Given the description of an element on the screen output the (x, y) to click on. 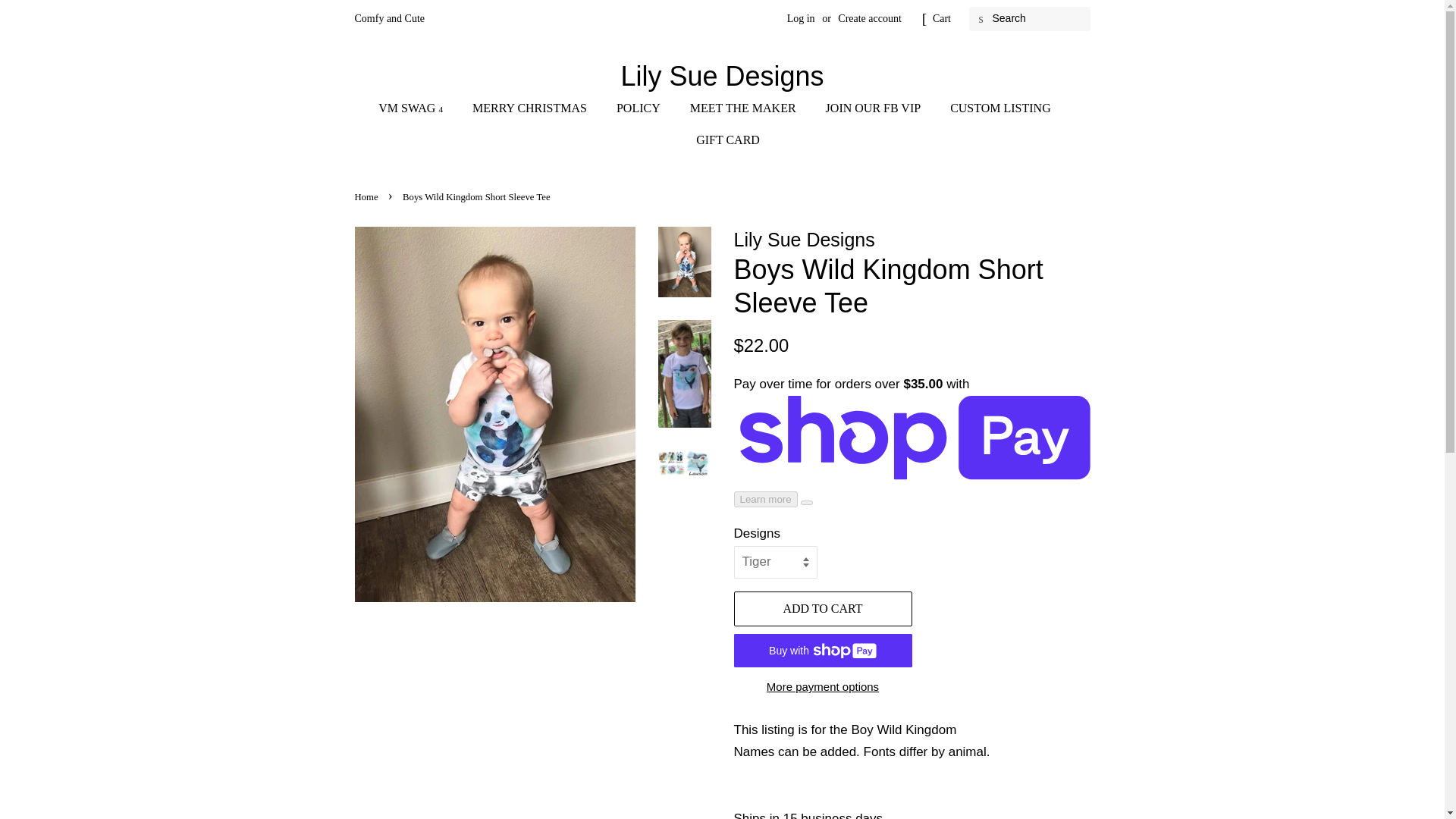
CUSTOM LISTING (1002, 107)
Cart (941, 18)
SEARCH (980, 18)
More payment options (822, 685)
MEET THE MAKER (744, 107)
VM SWAG (418, 107)
Home (368, 196)
JOIN OUR FB VIP (874, 107)
Lily Sue Designs (722, 75)
GIFT CARD (722, 139)
POLICY (640, 107)
ADD TO CART (822, 609)
Create account (869, 18)
MERRY CHRISTMAS (531, 107)
Log in (801, 18)
